Given the description of an element on the screen output the (x, y) to click on. 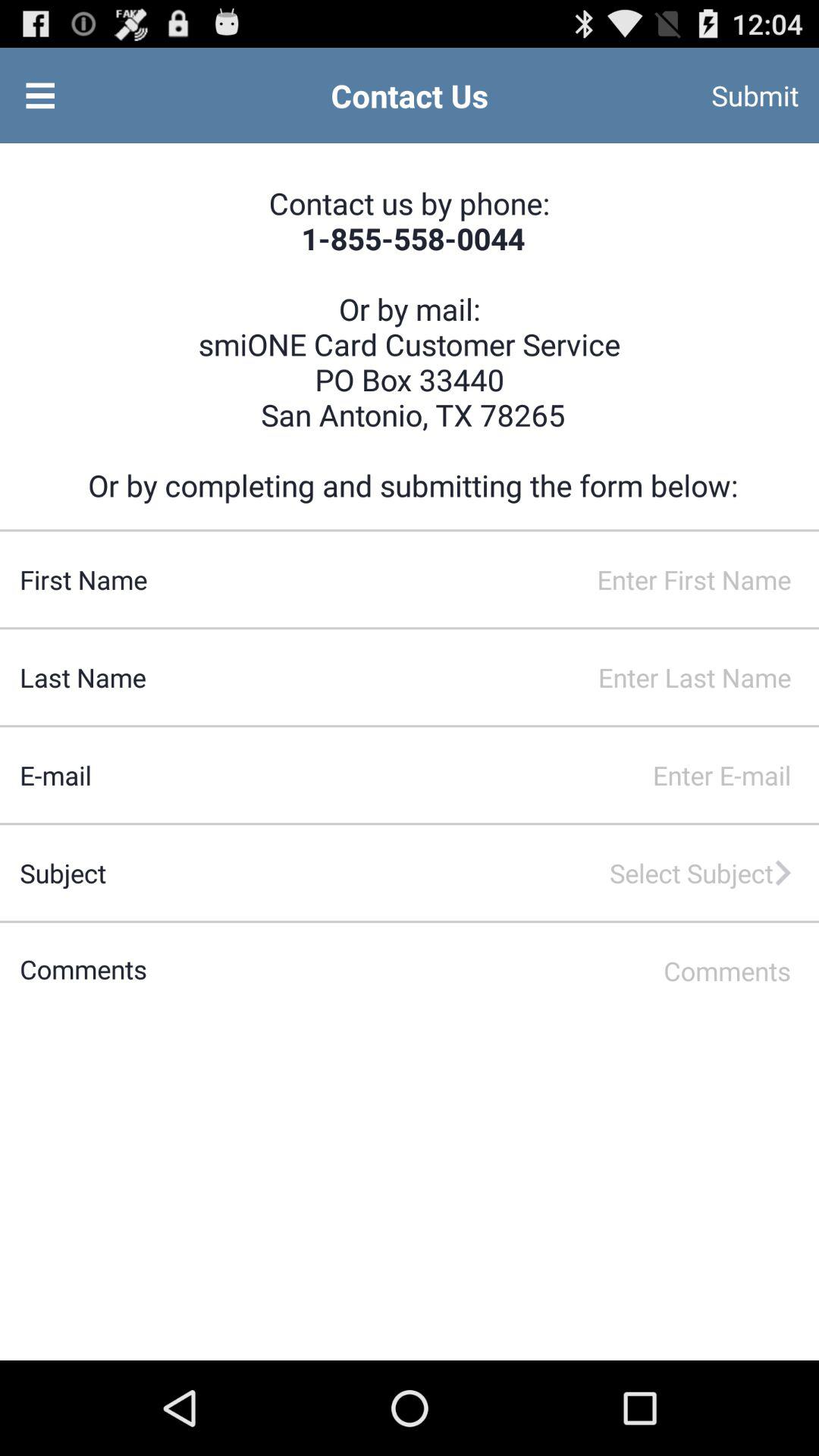
enter subject (452, 872)
